Given the description of an element on the screen output the (x, y) to click on. 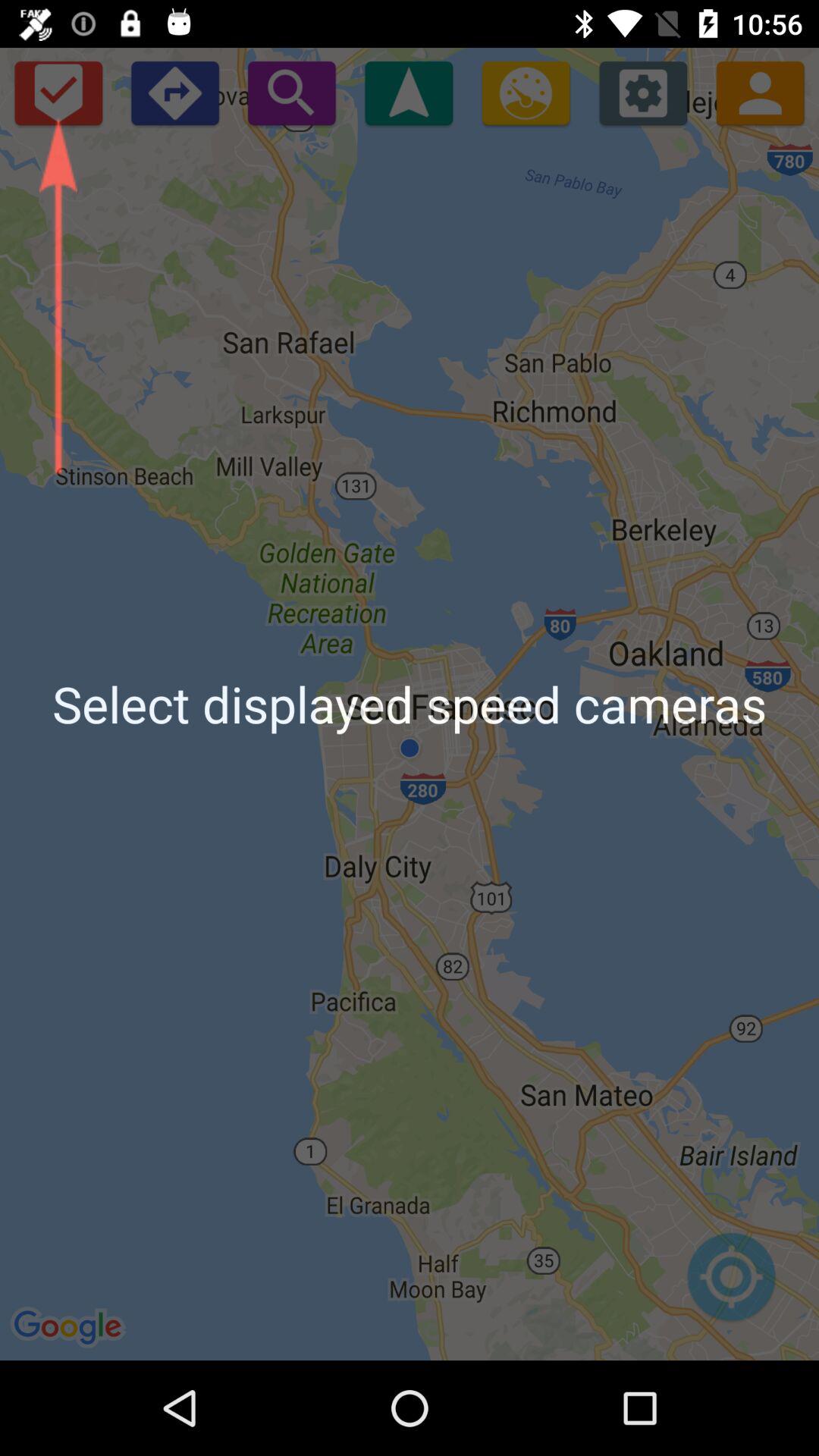
contacts (760, 92)
